Given the description of an element on the screen output the (x, y) to click on. 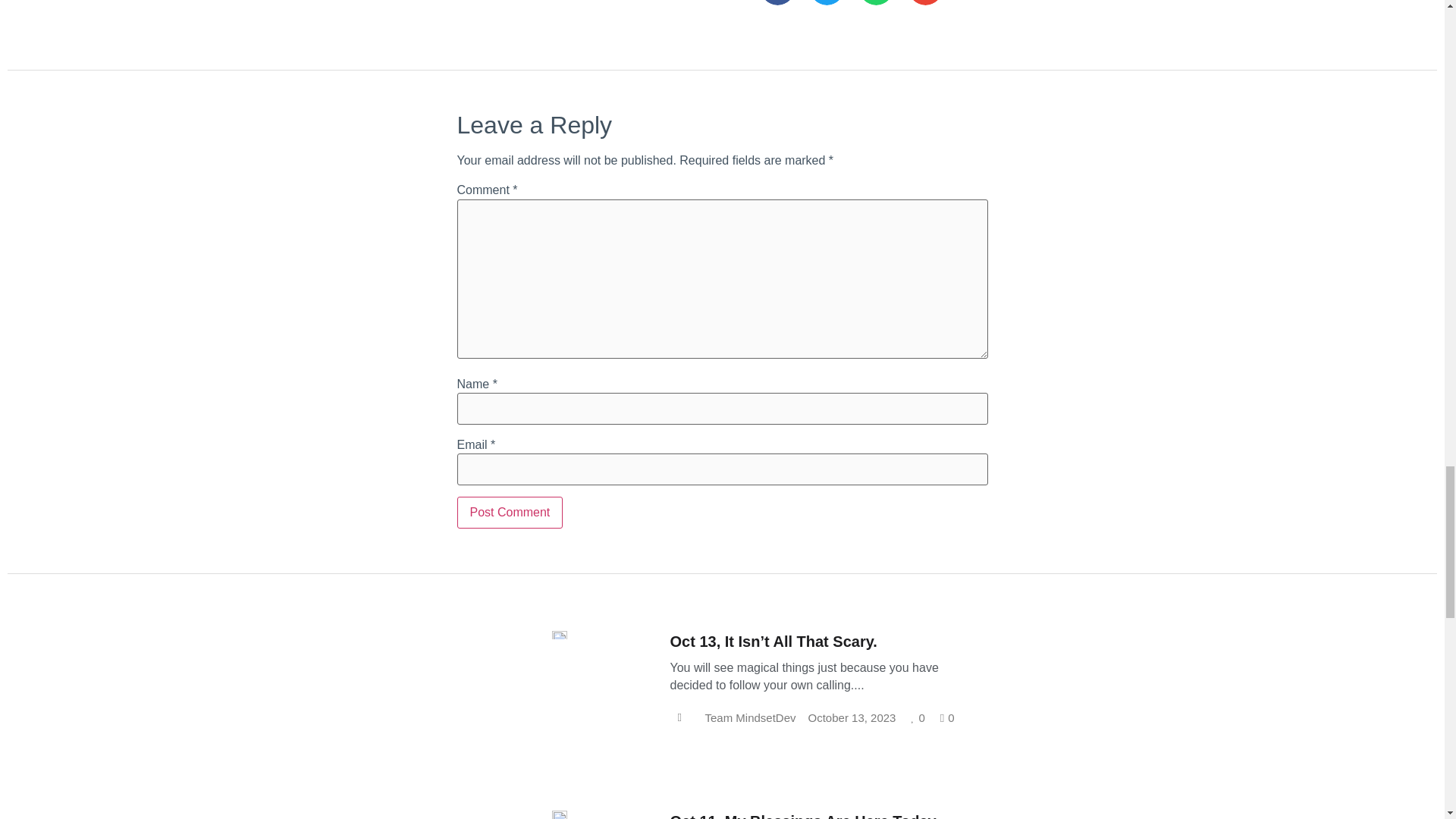
Oct 11, My Blessings Are Here Today. (804, 816)
Post Comment (509, 512)
Post Comment (509, 512)
October 13, 2023 (852, 718)
